Given the description of an element on the screen output the (x, y) to click on. 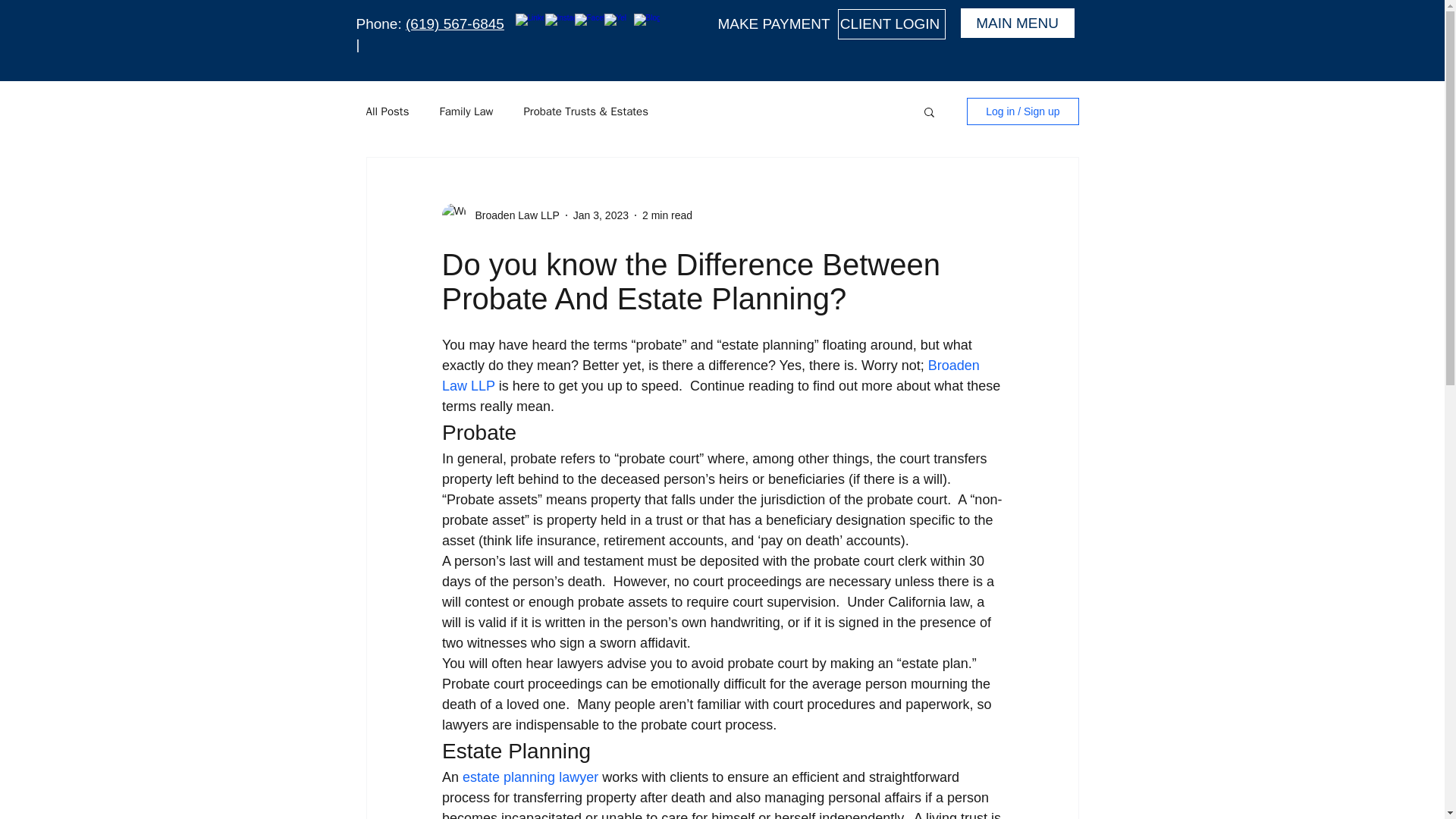
2 min read (667, 215)
CLIENT LOGIN (890, 24)
estate planning lawyer (530, 776)
MAKE PAYMENT (775, 24)
All Posts (387, 111)
Jan 3, 2023 (600, 215)
Family Law (466, 111)
Broaden Law LLP  (711, 375)
Broaden Law LLP (512, 215)
